Given the description of an element on the screen output the (x, y) to click on. 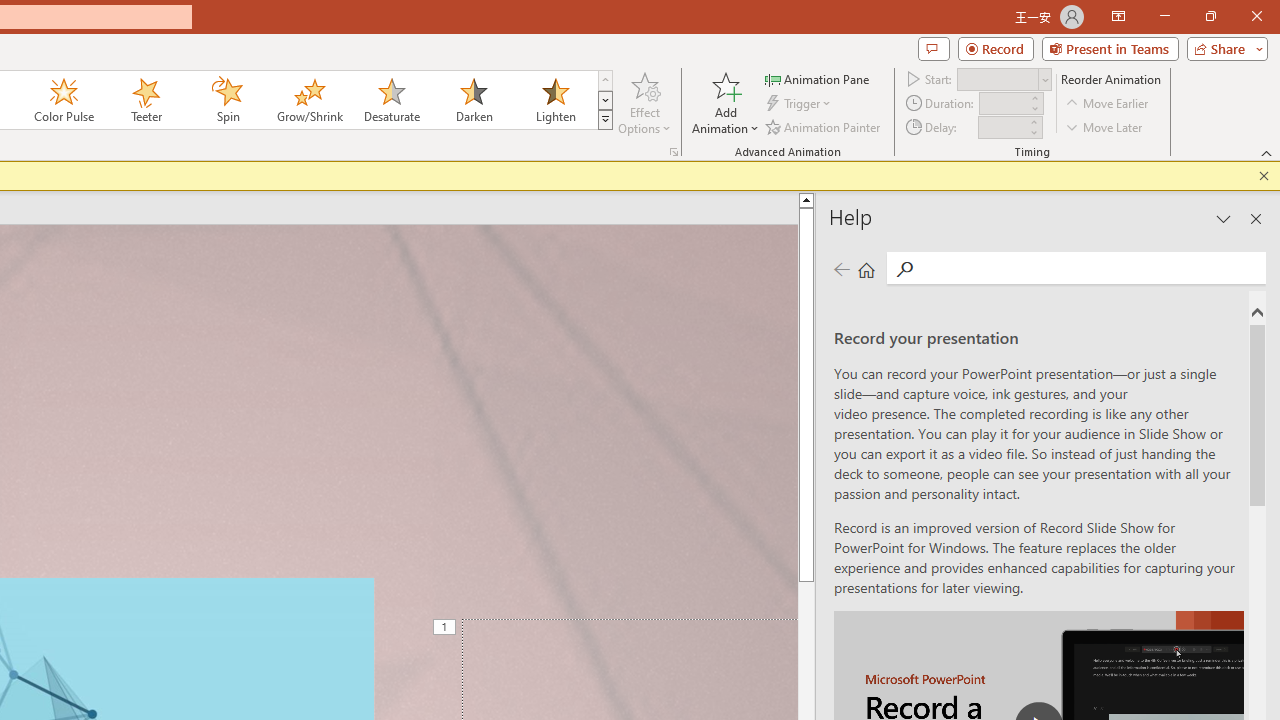
Animation Painter (824, 126)
Spin (227, 100)
Teeter (145, 100)
Move Later (1105, 126)
More (1033, 121)
Animation Styles (605, 120)
